Given the description of an element on the screen output the (x, y) to click on. 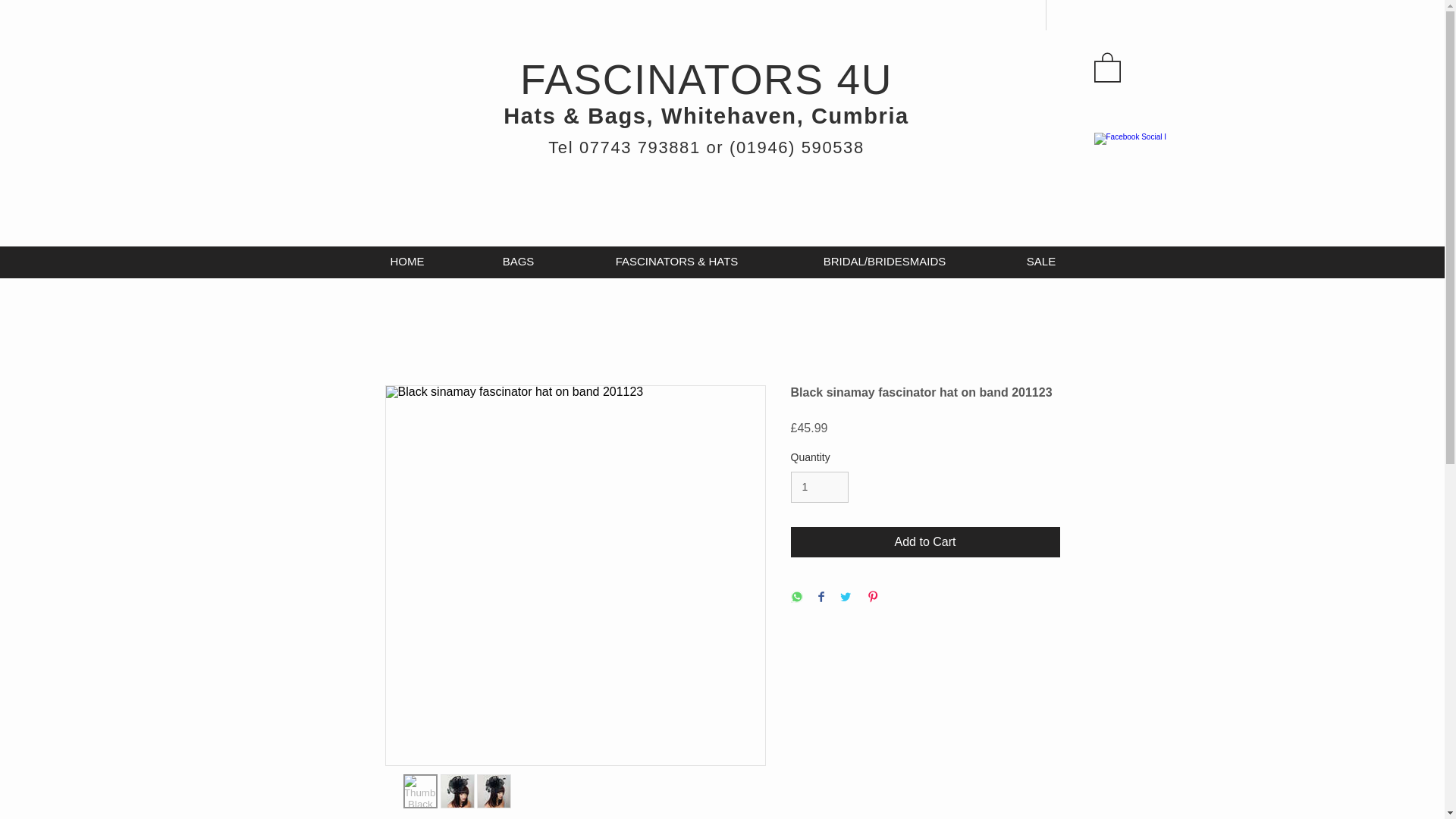
Facebook Like (1187, 129)
SALE (1041, 261)
FASCINATORS 4U (705, 97)
1 (818, 486)
Add to Cart (924, 542)
BAGS (518, 261)
HOME (406, 261)
Whitehaven, Cumbria (784, 115)
